Given the description of an element on the screen output the (x, y) to click on. 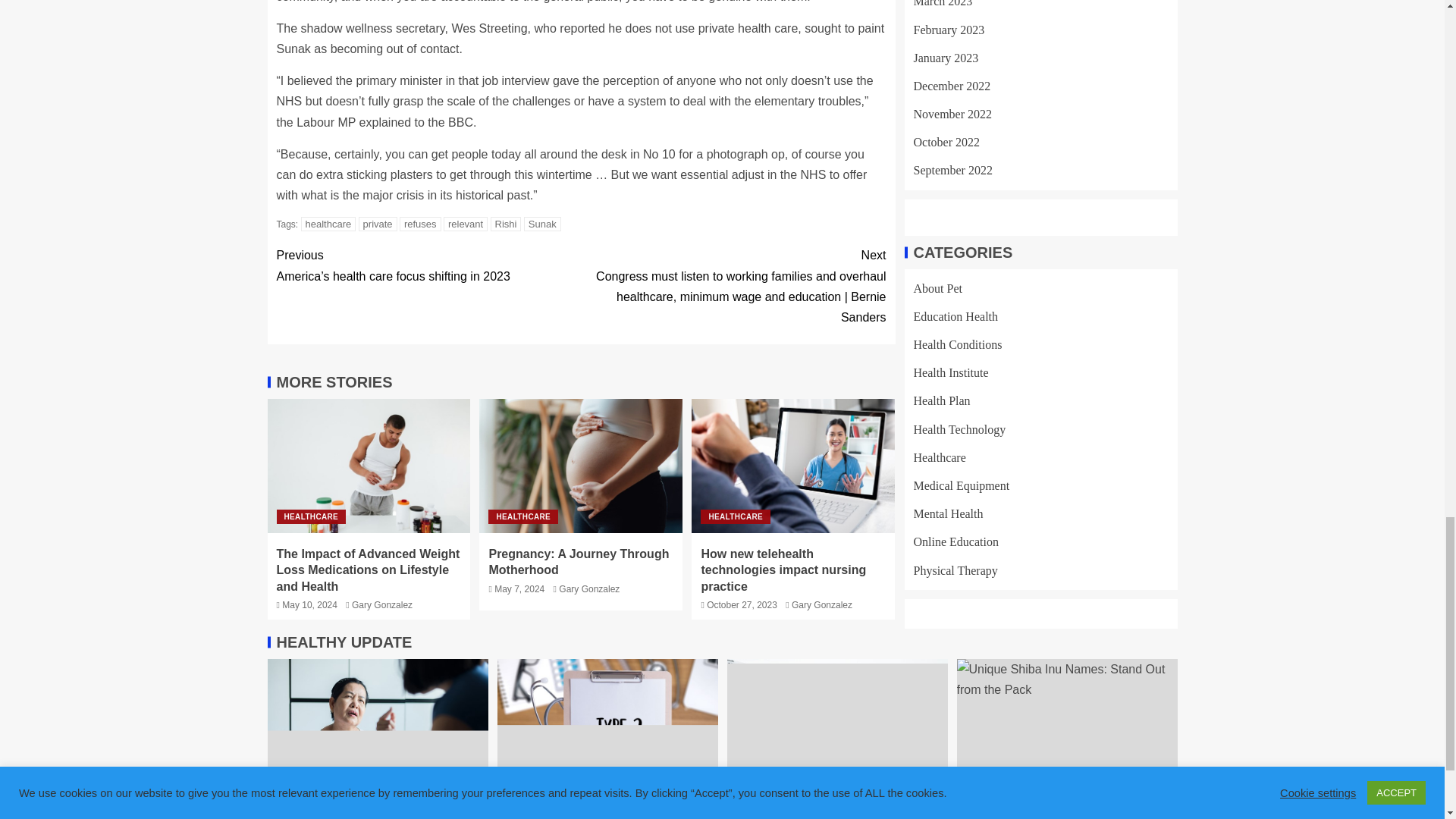
relevant (465, 223)
refuses (419, 223)
HEALTHCARE (311, 516)
How new telehealth technologies impact nursing practice (793, 465)
HEALTHCARE (522, 516)
Diabetes Type 1 (836, 734)
Pregnancy: A Journey Through Motherhood (580, 465)
private (377, 223)
